Given the description of an element on the screen output the (x, y) to click on. 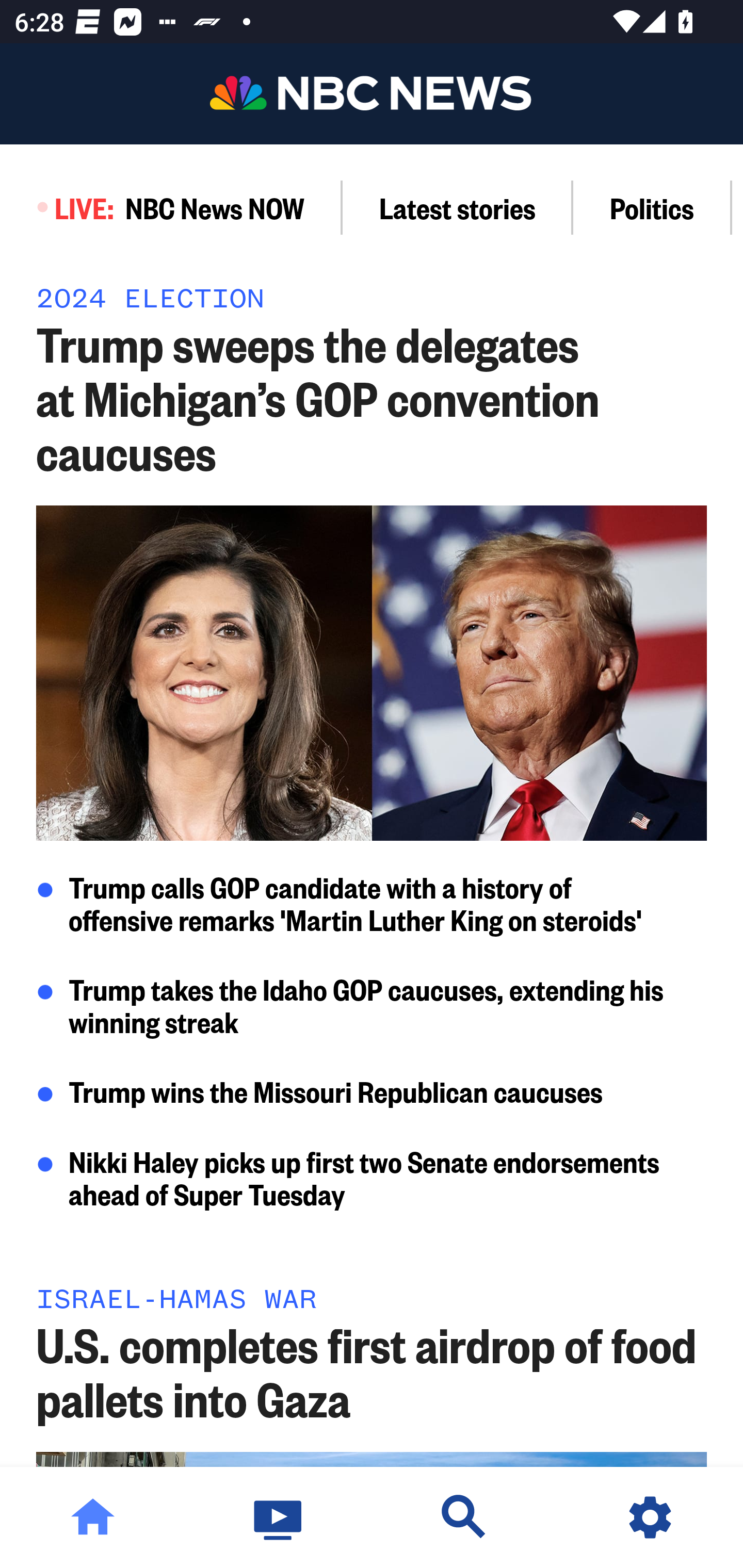
LIVE:  NBC News NOW (171, 207)
Latest stories Section,Latest stories (457, 207)
Politics Section,Politics (652, 207)
Watch (278, 1517)
Discover (464, 1517)
Settings (650, 1517)
